Given the description of an element on the screen output the (x, y) to click on. 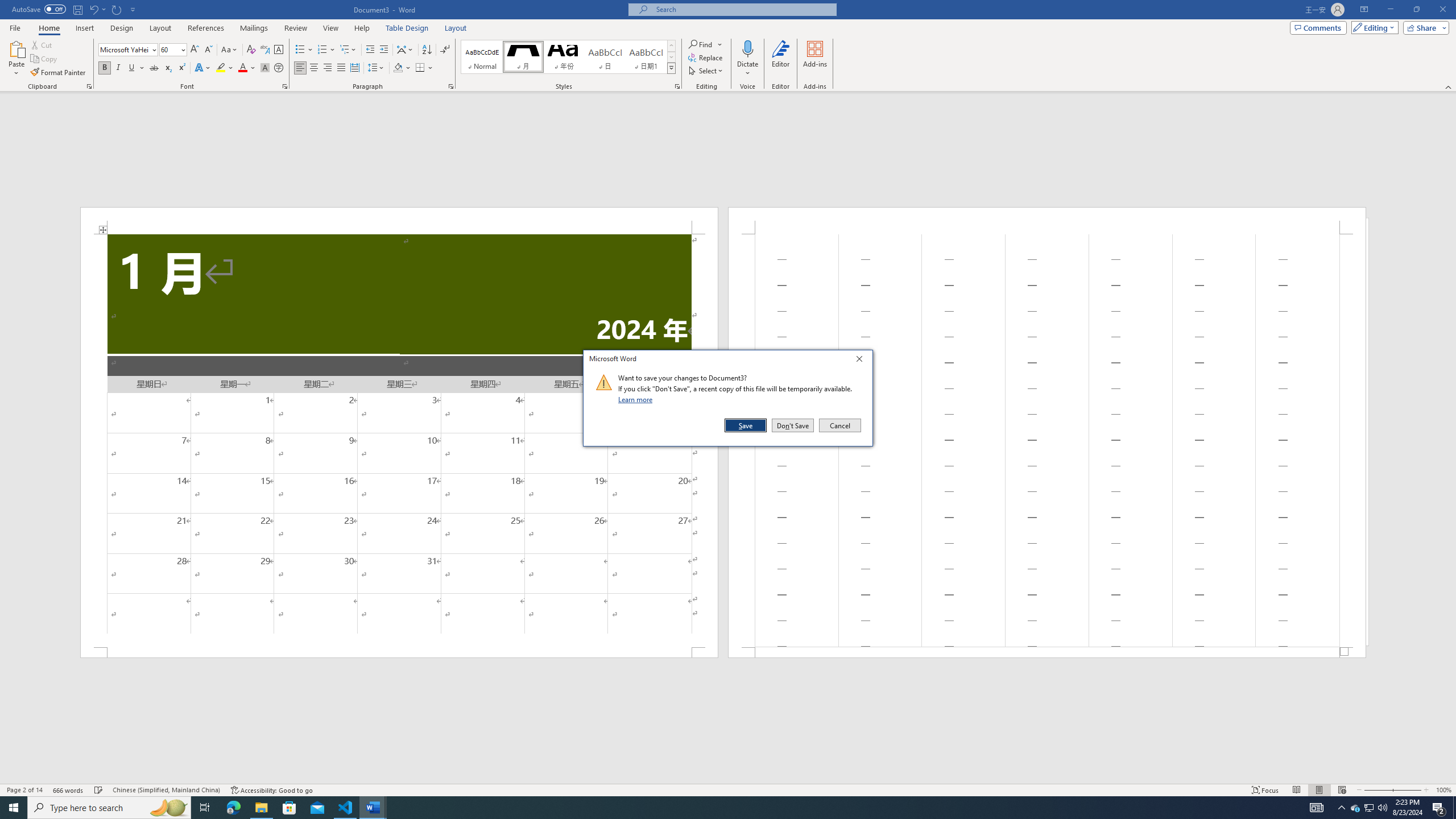
Minimize (1390, 9)
Share (1423, 27)
Subscript (167, 67)
Sort... (426, 49)
Dictate (747, 48)
Bold (104, 67)
Copy (45, 58)
Character Border (278, 49)
AutomationID: 4105 (1316, 807)
